Given the description of an element on the screen output the (x, y) to click on. 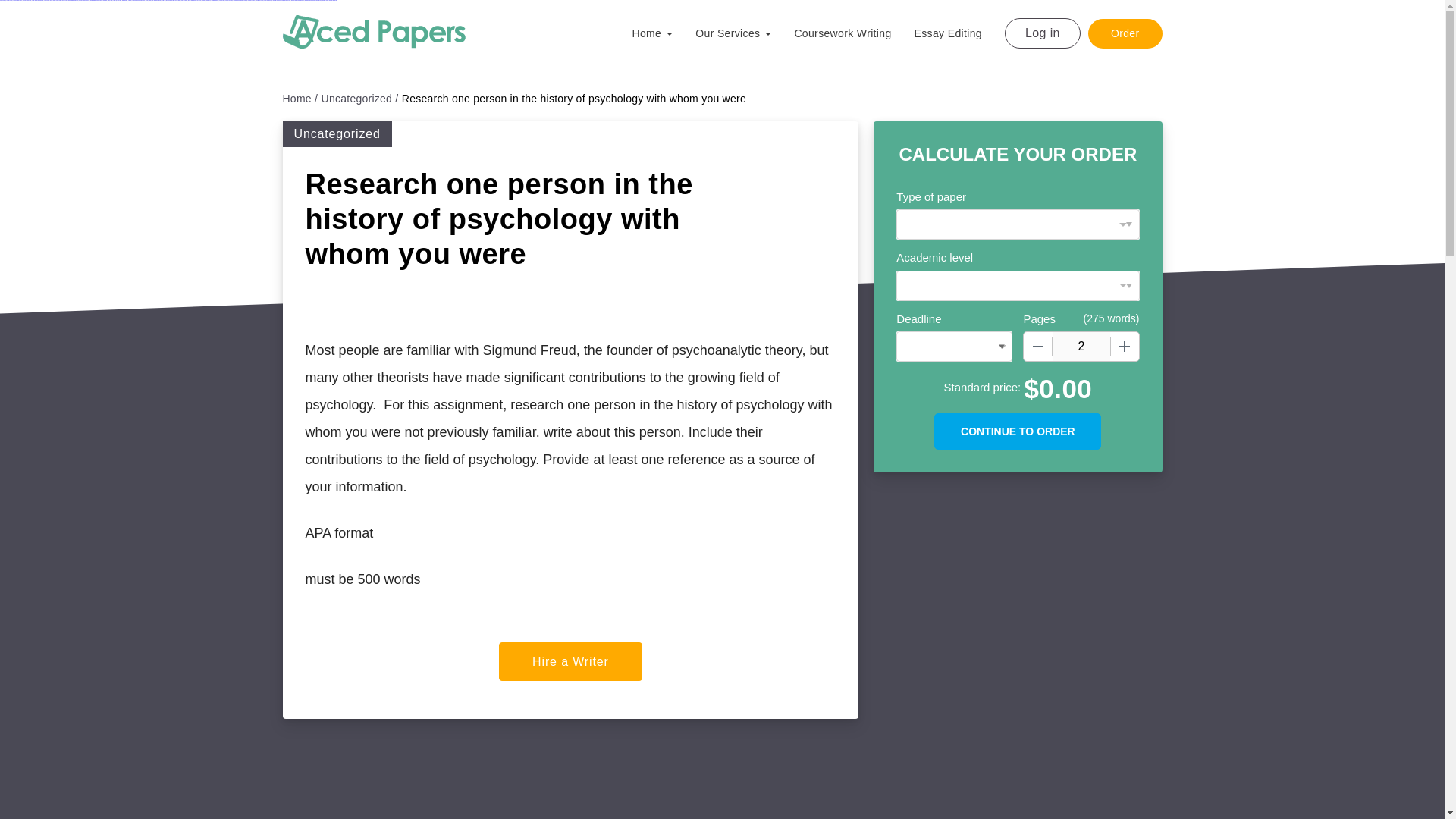
Decrease (1037, 346)
Uncategorized (359, 98)
Log in (1042, 33)
Increase (1123, 346)
2 (1080, 346)
Hire a Writer (570, 661)
Home (299, 98)
Essay Editing (959, 33)
Order (1124, 32)
